Given the description of an element on the screen output the (x, y) to click on. 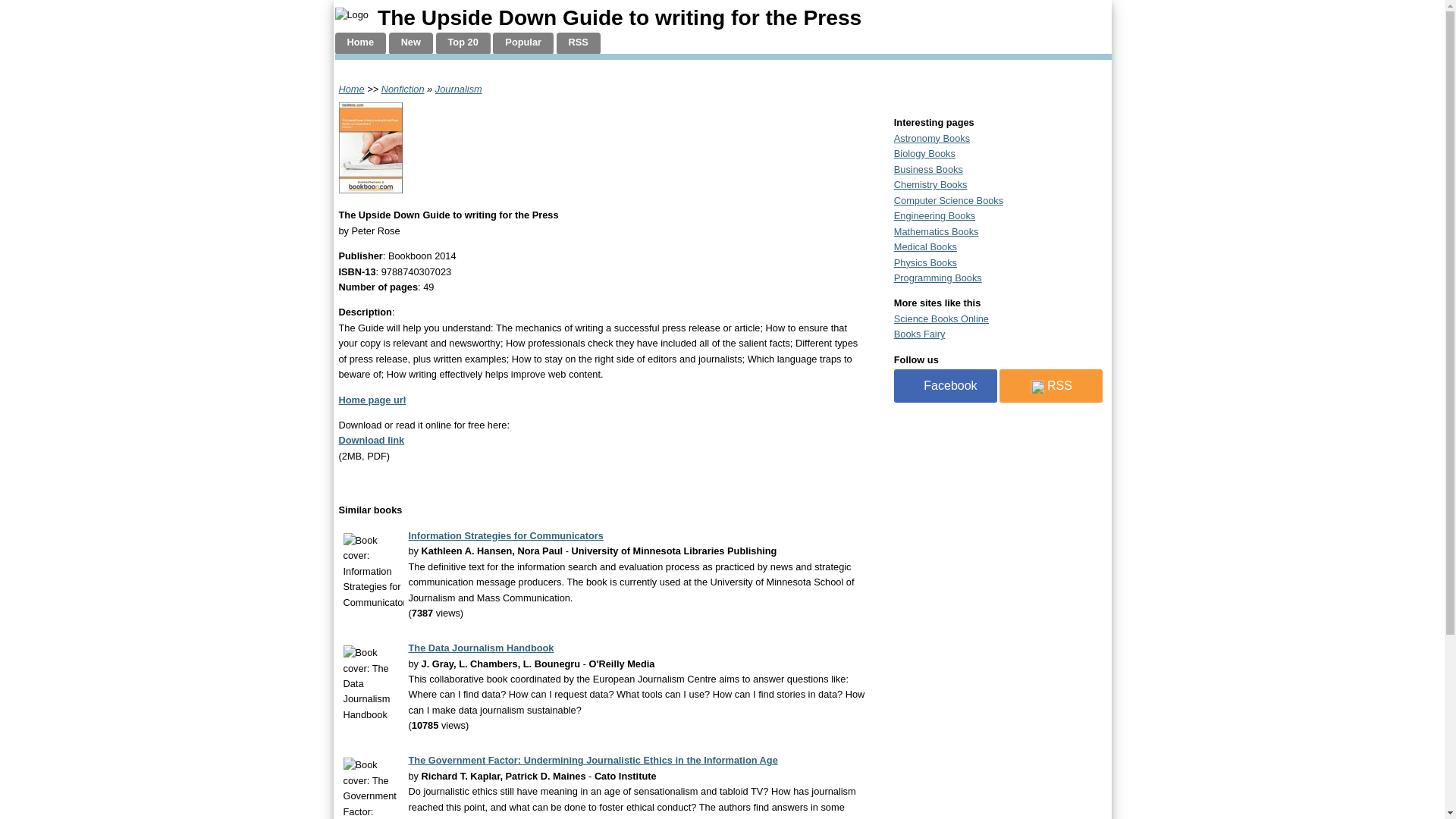
Home (350, 89)
The Data Journalism Handbook (480, 647)
RSS (577, 43)
New (410, 43)
Popular (523, 43)
Home (360, 43)
Nonfiction (403, 89)
Top 20 (462, 43)
Download link (370, 439)
